Given the description of an element on the screen output the (x, y) to click on. 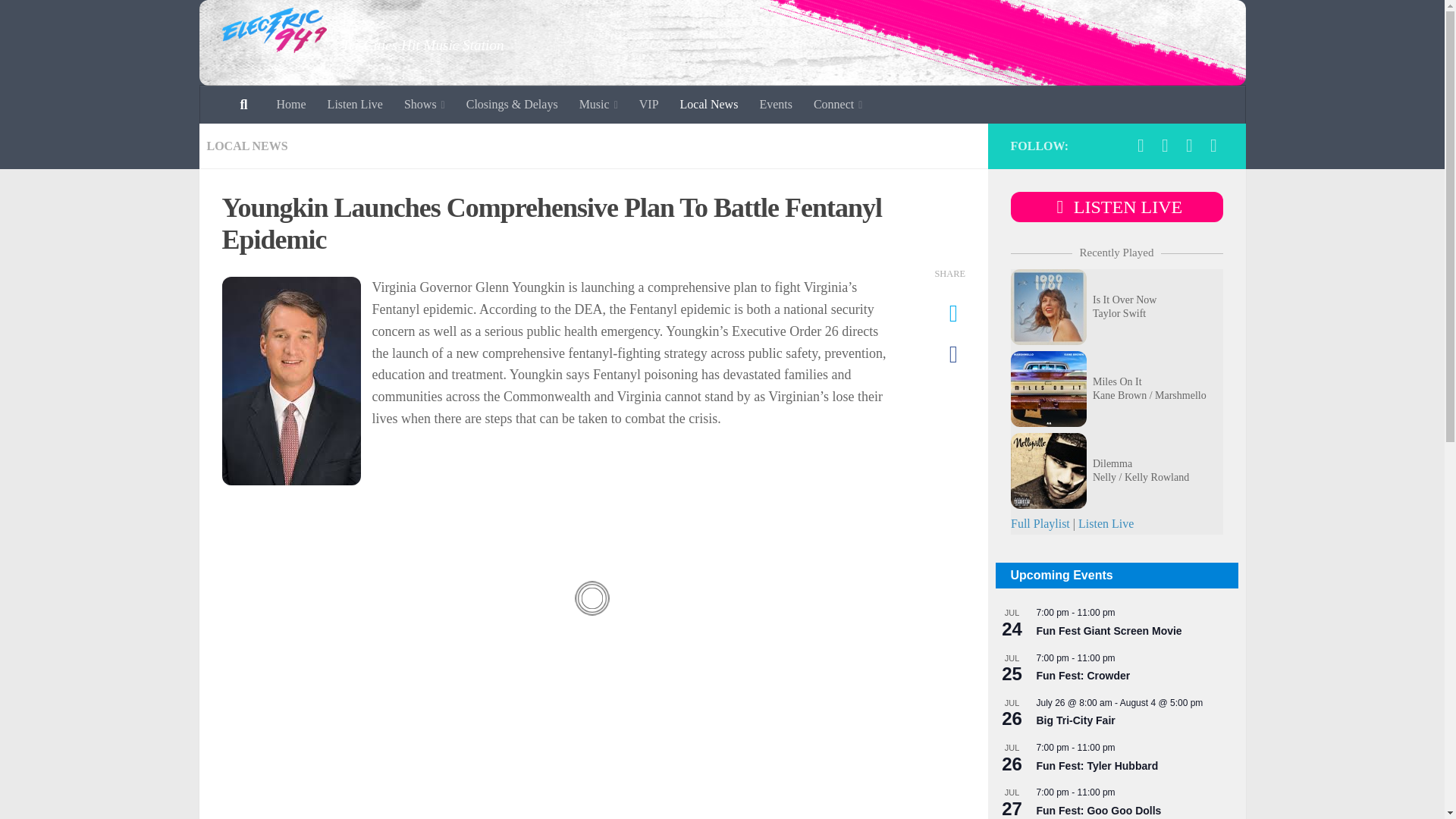
Follow us on Email (1213, 145)
Fun Fest: Tyler Hubbard (1096, 766)
Follow us on Facebook (1140, 145)
Follow us on Instagram (1164, 145)
Listen Live (355, 104)
Follow us on Snapchat (1188, 145)
Fun Fest Giant Screen Movie (1107, 631)
Fun Fest: Goo Goo Dolls (1097, 810)
Shows (424, 104)
Fun Fest: Crowder (1082, 675)
Home (289, 104)
Big Tri-City Fair (1075, 720)
